Given the description of an element on the screen output the (x, y) to click on. 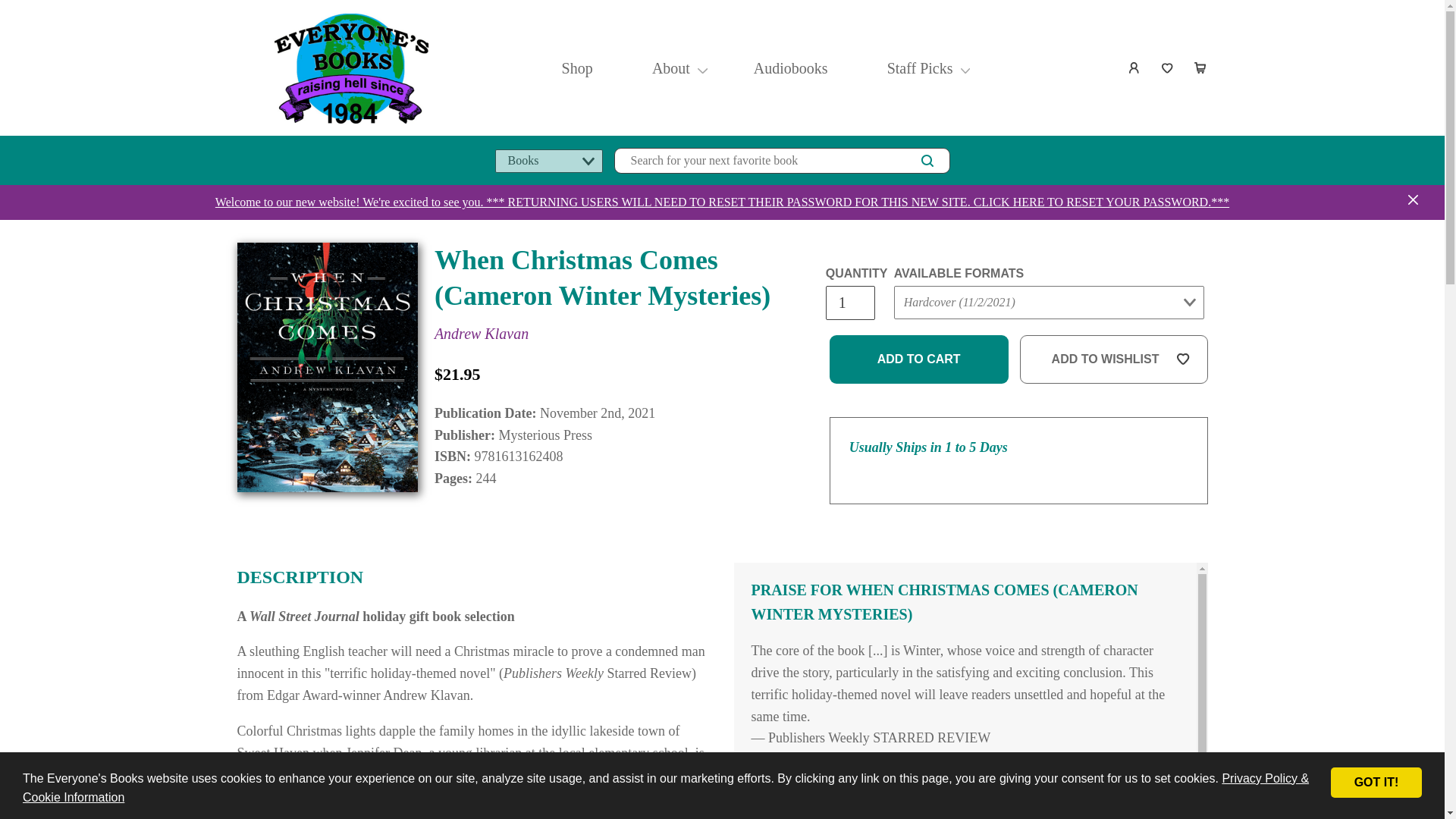
Submit (922, 332)
Wishlist (1168, 68)
ADD TO WISHLIST (1114, 359)
Audiobooks (791, 68)
SEARCH (926, 160)
Cart (1201, 68)
Add to cart (919, 359)
Log in (1134, 68)
Log in (1134, 68)
Cart (1201, 68)
1 (850, 302)
Add to cart (919, 359)
Andrew Klavan (480, 333)
Wishlists (1168, 68)
